Given the description of an element on the screen output the (x, y) to click on. 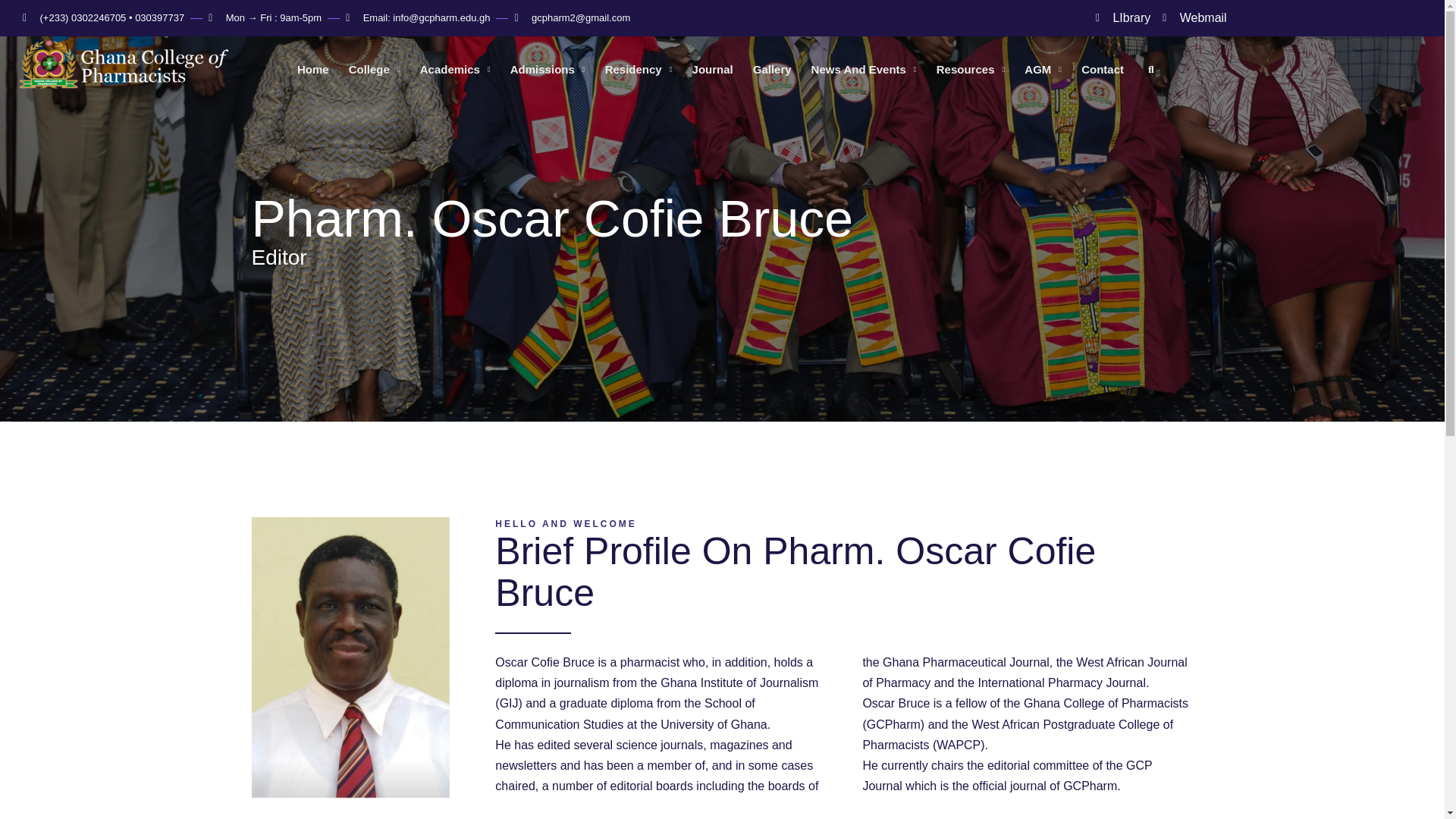
Webmail (1193, 18)
Admissions (548, 69)
Pharm. Oscar Cofie Bruce (722, 218)
Brief Profile On Pharm. Oscar Cofie Bruce (1259, 18)
LIbrary (843, 581)
HELLO AND WELCOME (1123, 18)
College (843, 523)
Home (374, 69)
Editor (313, 69)
Academics (722, 257)
